Given the description of an element on the screen output the (x, y) to click on. 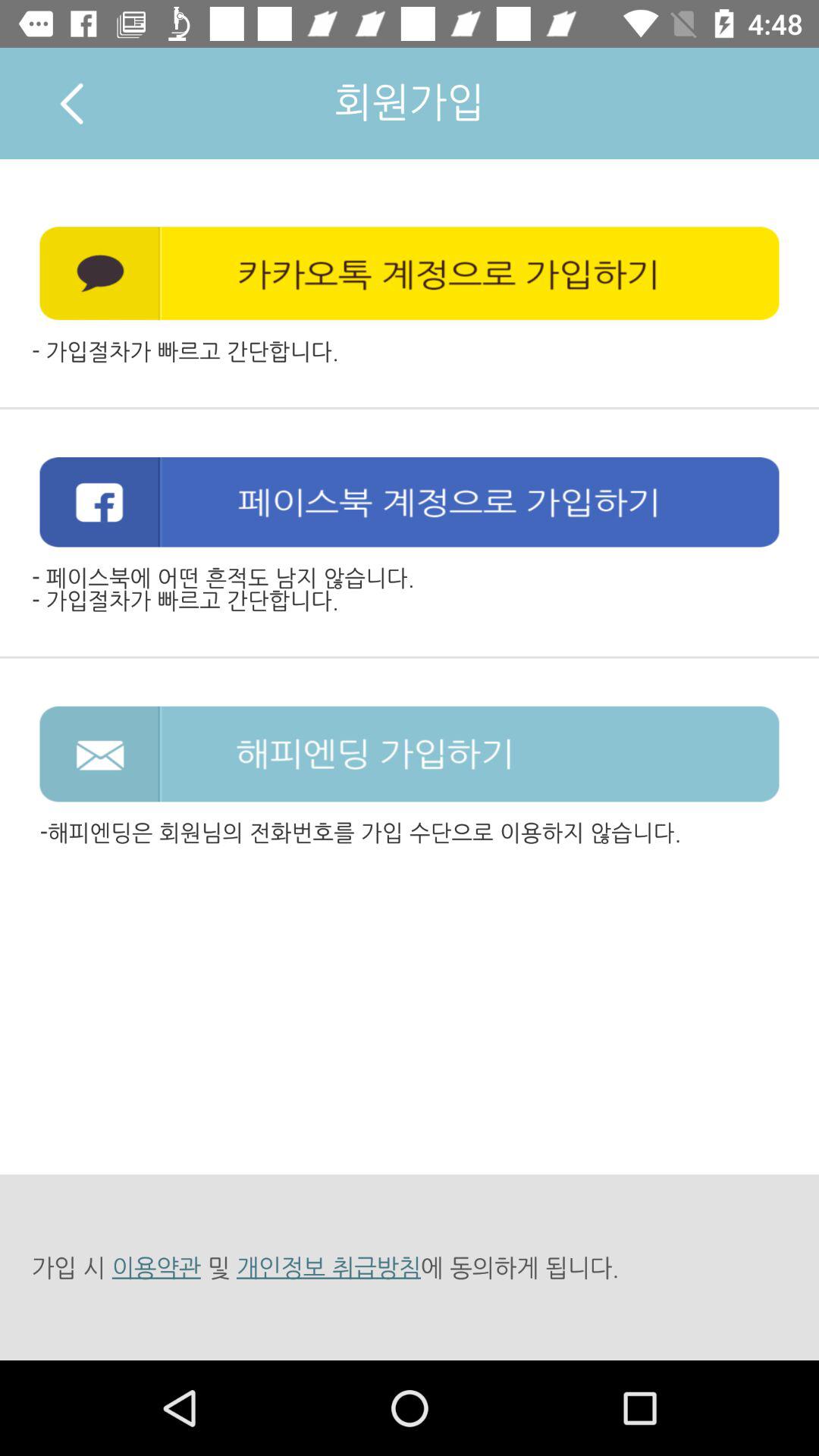
go to first link in the last row (156, 1268)
select the second text from top of the page (409, 273)
